Given the description of an element on the screen output the (x, y) to click on. 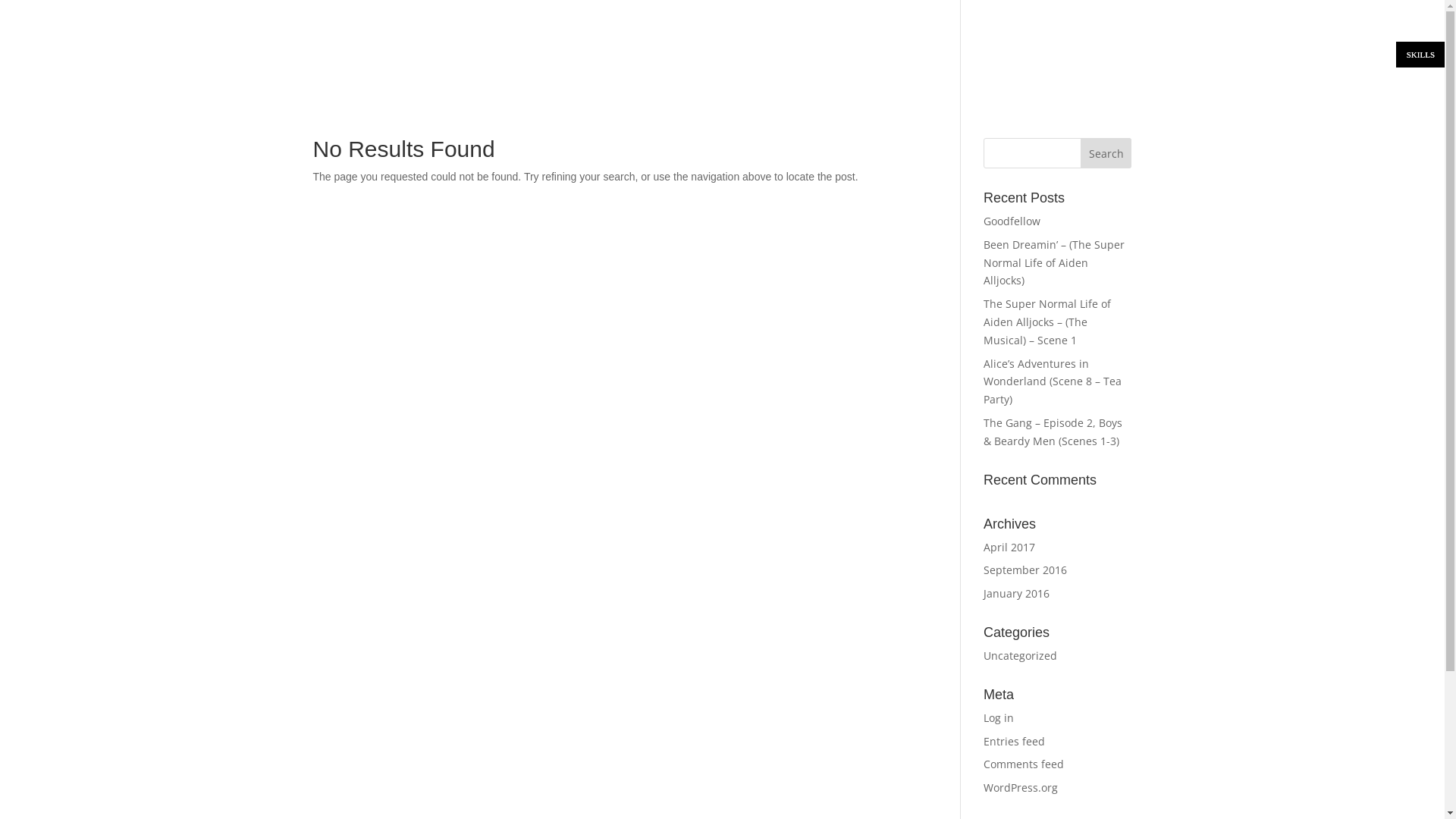
September 2016 Element type: text (1024, 569)
January 2016 Element type: text (1016, 593)
April 2017 Element type: text (1009, 546)
Comments feed Element type: text (1023, 763)
Log in Element type: text (998, 717)
WordPress.org Element type: text (1020, 787)
Uncategorized Element type: text (1020, 655)
Entries feed Element type: text (1013, 741)
Search Element type: text (1106, 153)
Goodfellow Element type: text (1011, 220)
